Given the description of an element on the screen output the (x, y) to click on. 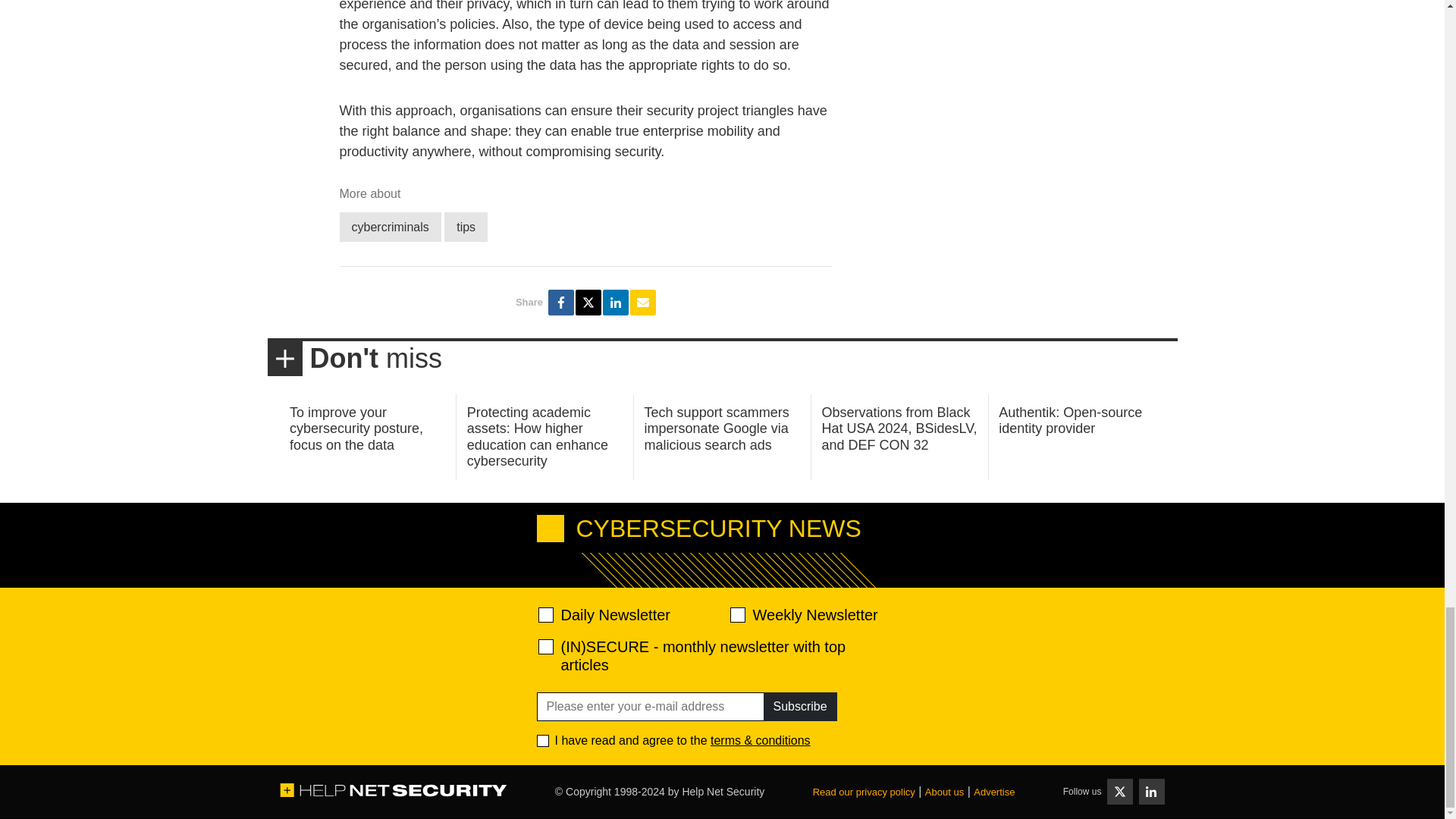
To improve your cybersecurity posture, focus on the data (356, 428)
Share Shaping mobile security on LinkedIn (615, 302)
cybercriminals (390, 226)
tips (465, 226)
Share Shaping mobile security on Twitter (588, 302)
Share Shaping mobile security via E-mail (643, 302)
d2d471aafa (736, 614)
28abe5d9ef (545, 646)
